Given the description of an element on the screen output the (x, y) to click on. 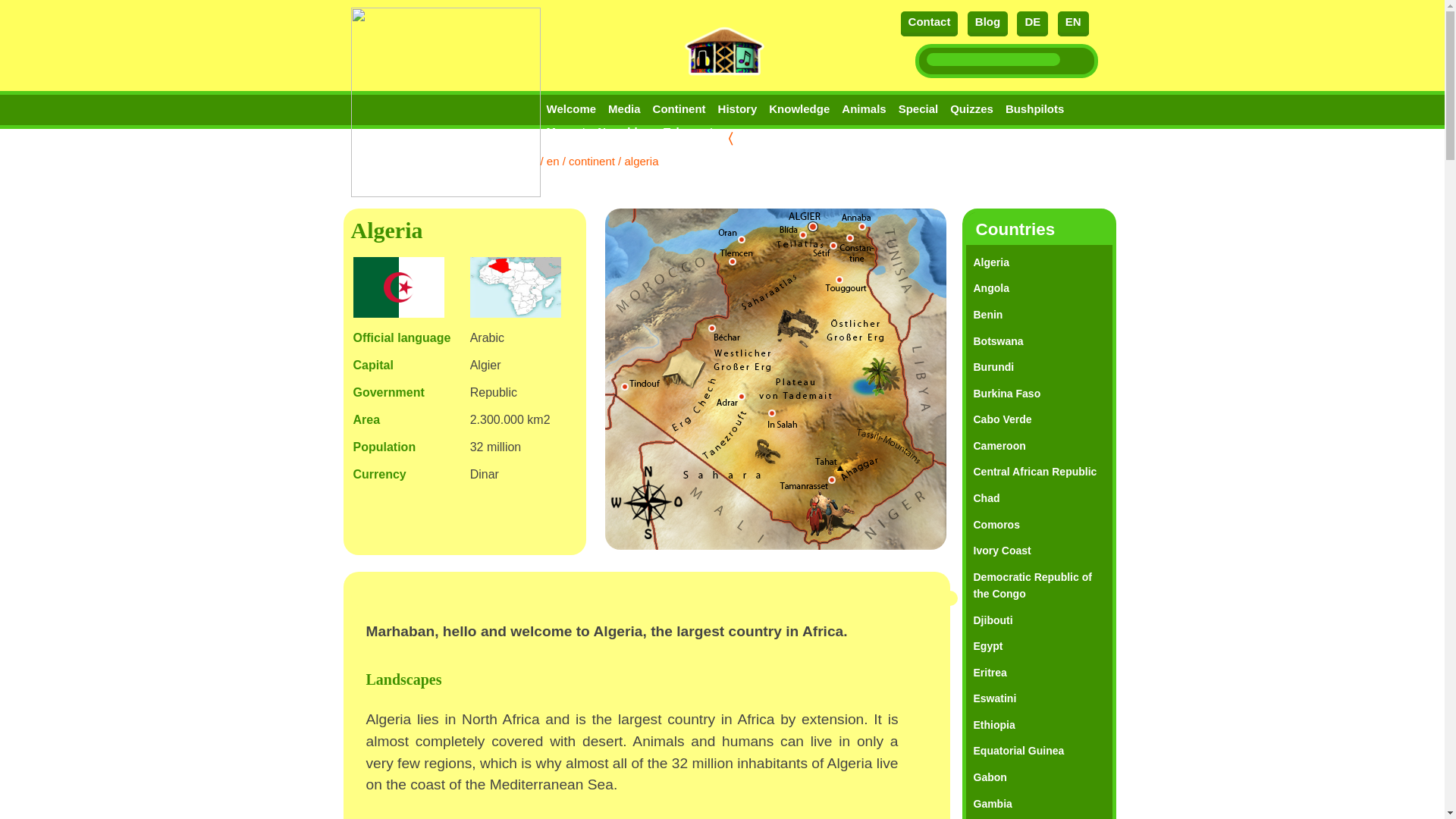
en (553, 160)
History (736, 108)
continent (591, 160)
Burundi (994, 367)
Angola (991, 287)
Special (918, 108)
Burkina Faso (1007, 393)
Go to home page (445, 98)
zum Blog (987, 23)
Welcome (571, 108)
Contact (929, 23)
Quizzes (970, 108)
Animals (863, 108)
EN (1073, 23)
DE (1032, 23)
